Given the description of an element on the screen output the (x, y) to click on. 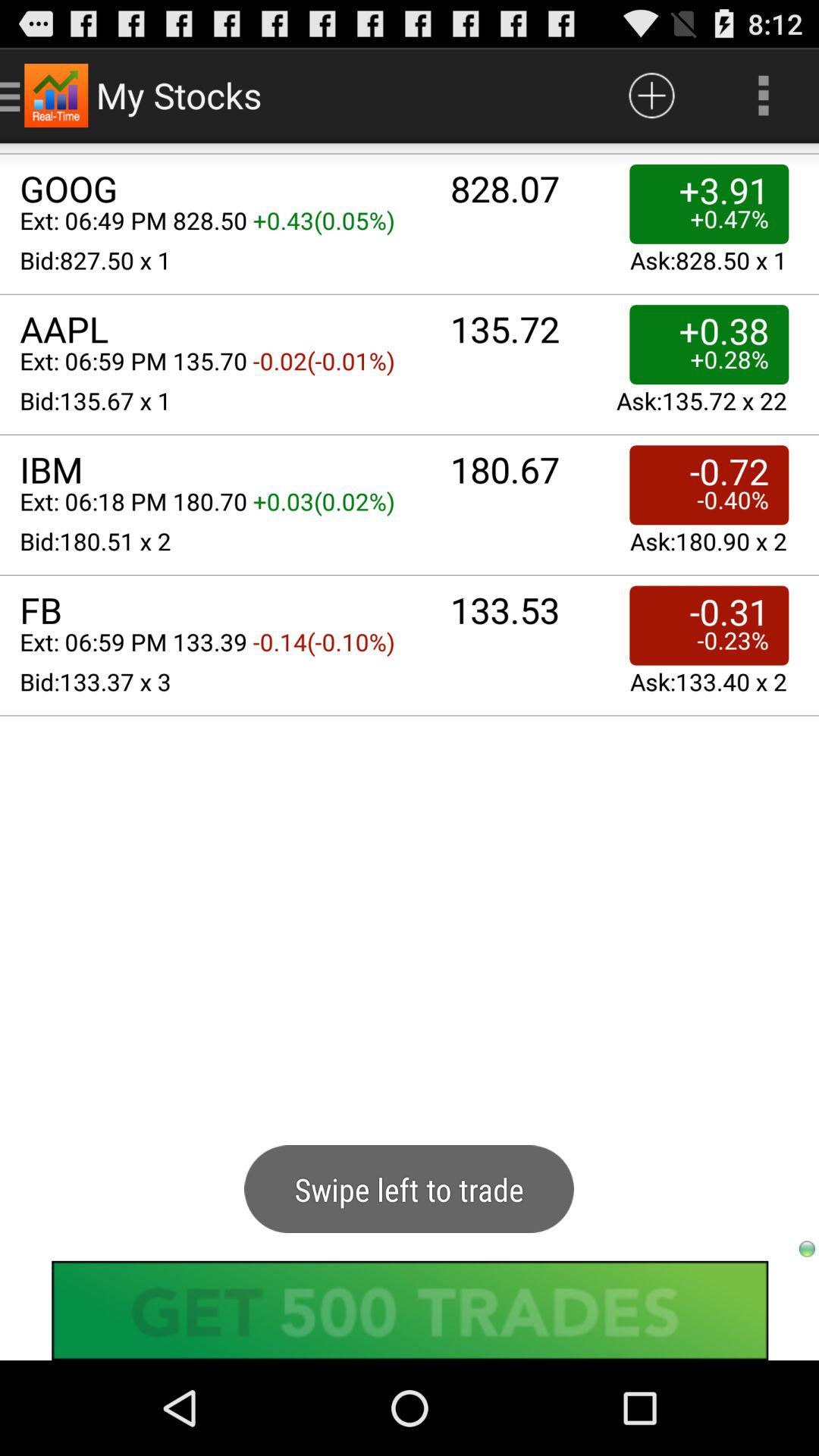
shows the advertisement tab (409, 1310)
